Given the description of an element on the screen output the (x, y) to click on. 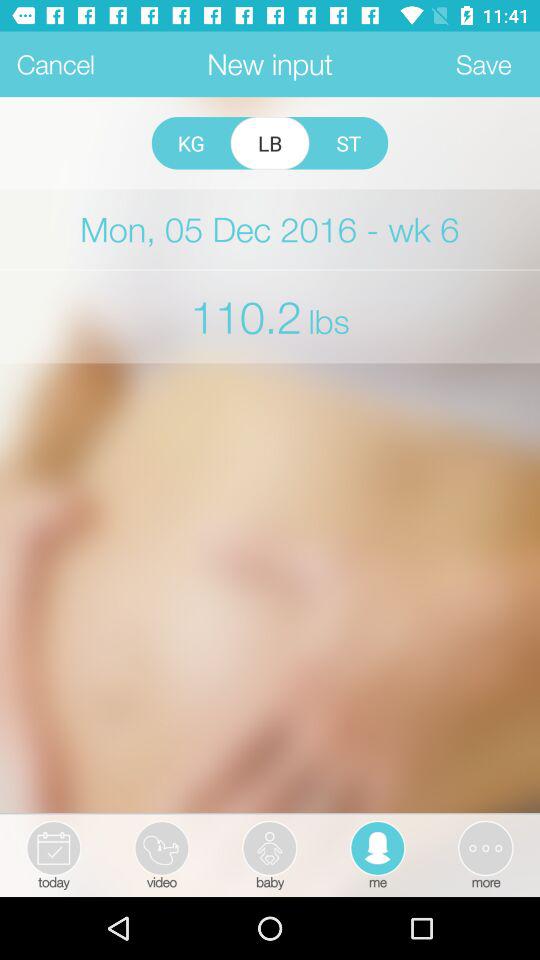
turn on st (348, 143)
